Given the description of an element on the screen output the (x, y) to click on. 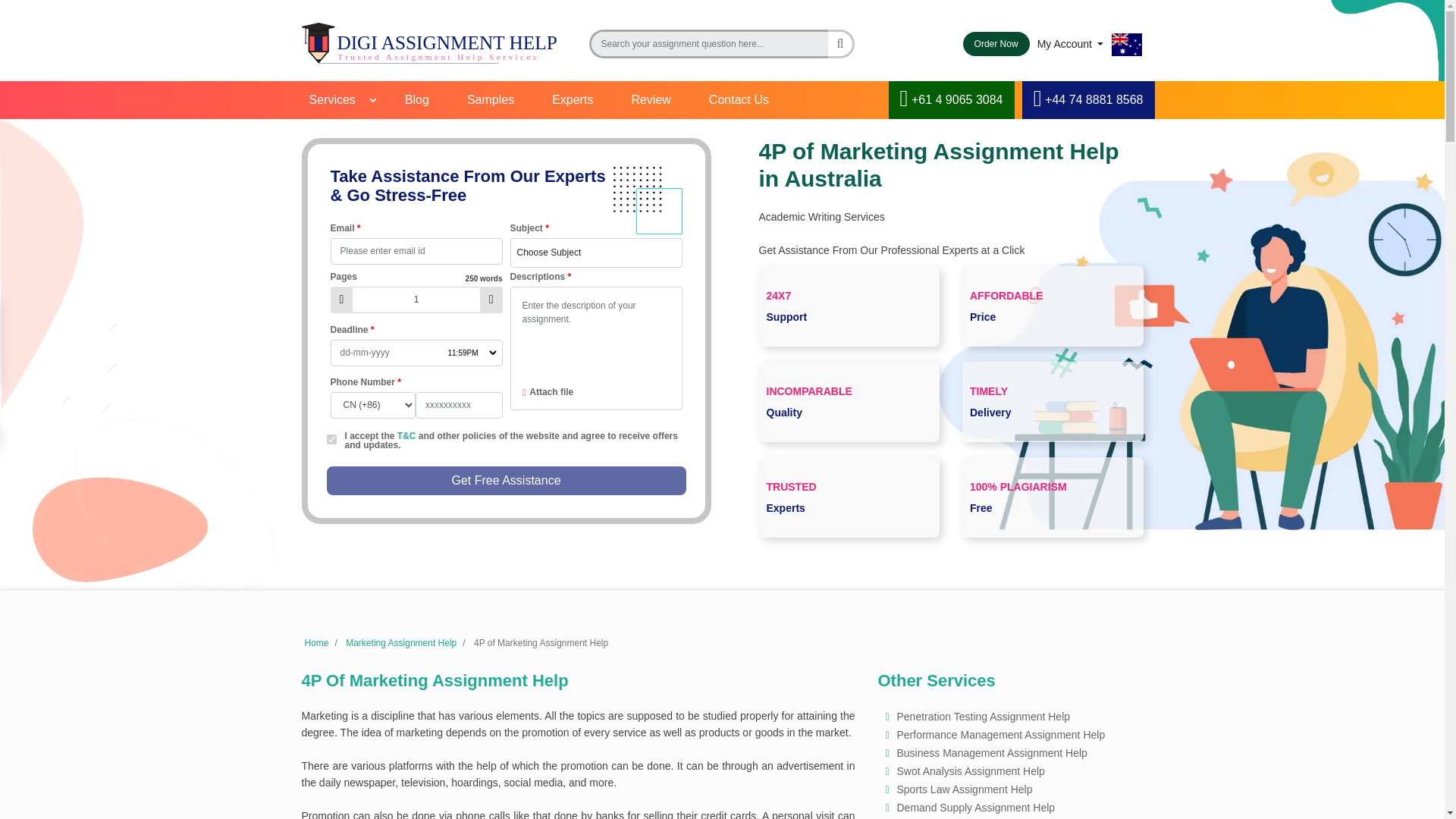
1 (416, 299)
Services (337, 99)
My Account (1069, 43)
Order Now (995, 43)
